Given the description of an element on the screen output the (x, y) to click on. 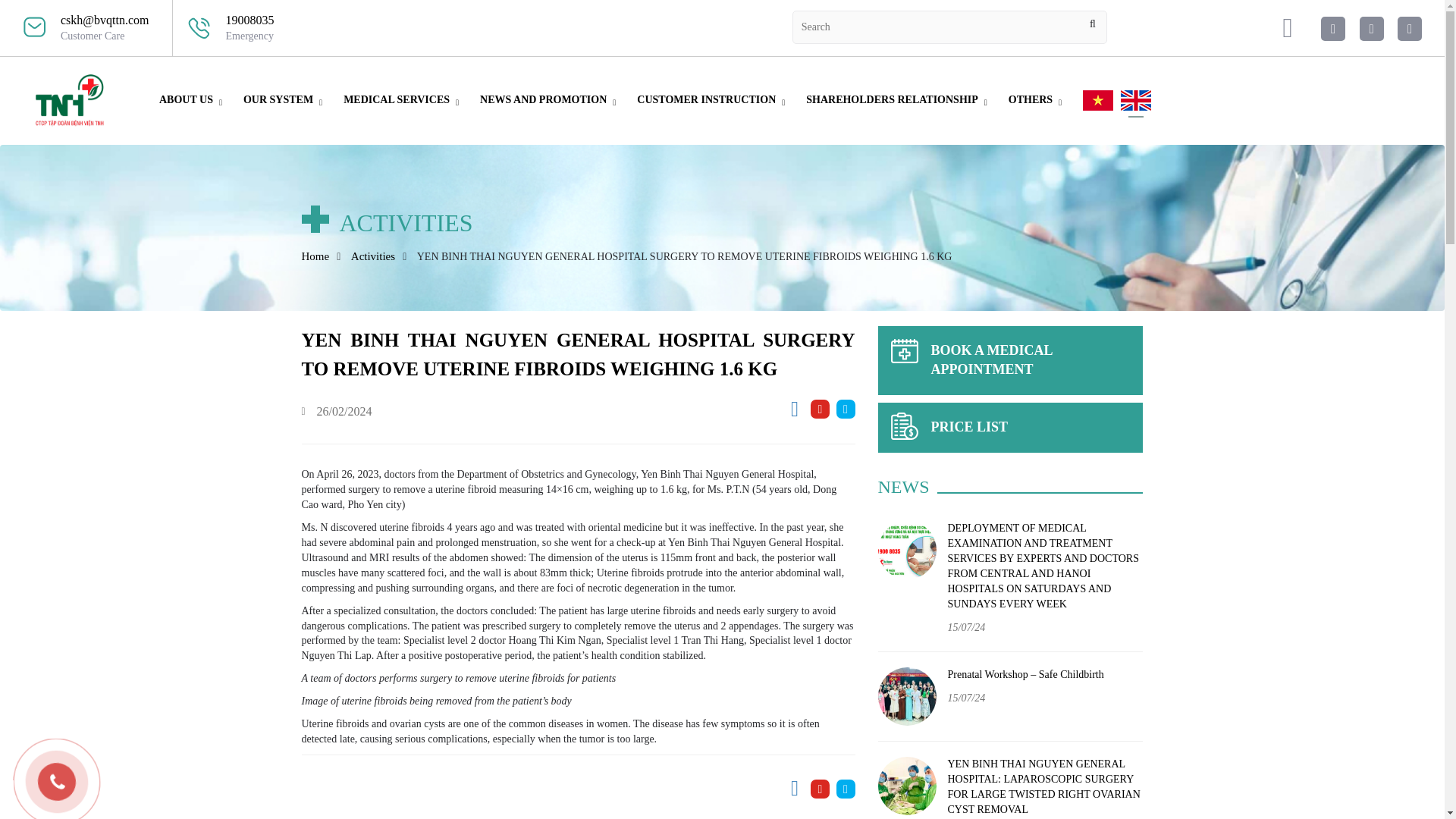
OUR SYSTEM (278, 98)
ABOUT US (186, 98)
19008035 (250, 19)
